Given the description of an element on the screen output the (x, y) to click on. 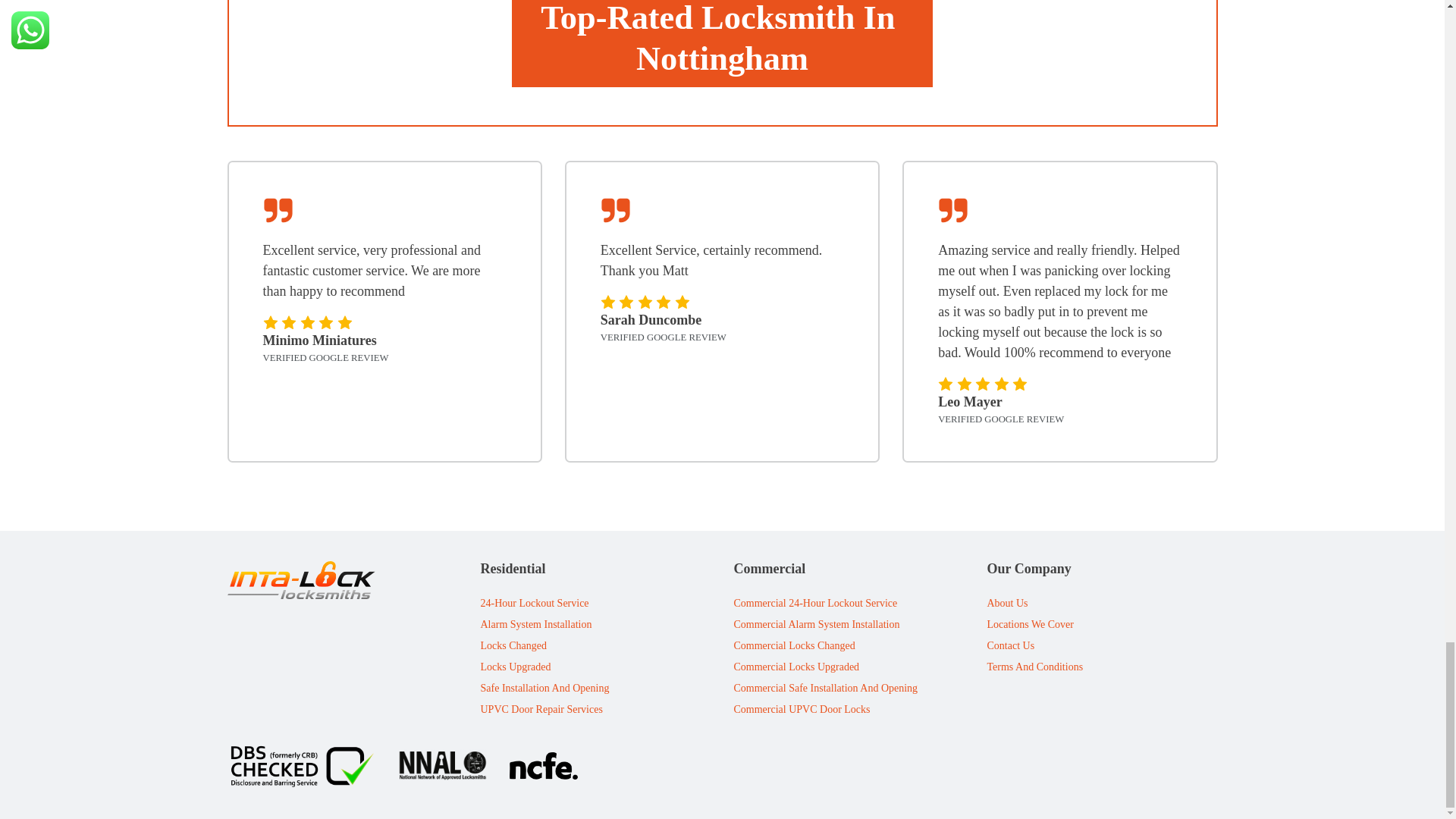
Commercial Locks Upgraded (825, 667)
Locks Changed (545, 645)
24-Hour Lockout Service (545, 603)
Terms And Conditions (1035, 667)
Locations We Cover (1035, 624)
Locks Upgraded (545, 667)
Commercial Locks Changed (825, 645)
Alarm System Installation (545, 624)
Commercial Safe Installation And Opening (825, 688)
UPVC Door Repair Services (545, 709)
Safe Installation And Opening (545, 688)
Contact Us (1035, 645)
About Us (1035, 603)
Commercial 24-Hour Lockout Service (825, 603)
Commercial UPVC Door Locks (825, 709)
